Given the description of an element on the screen output the (x, y) to click on. 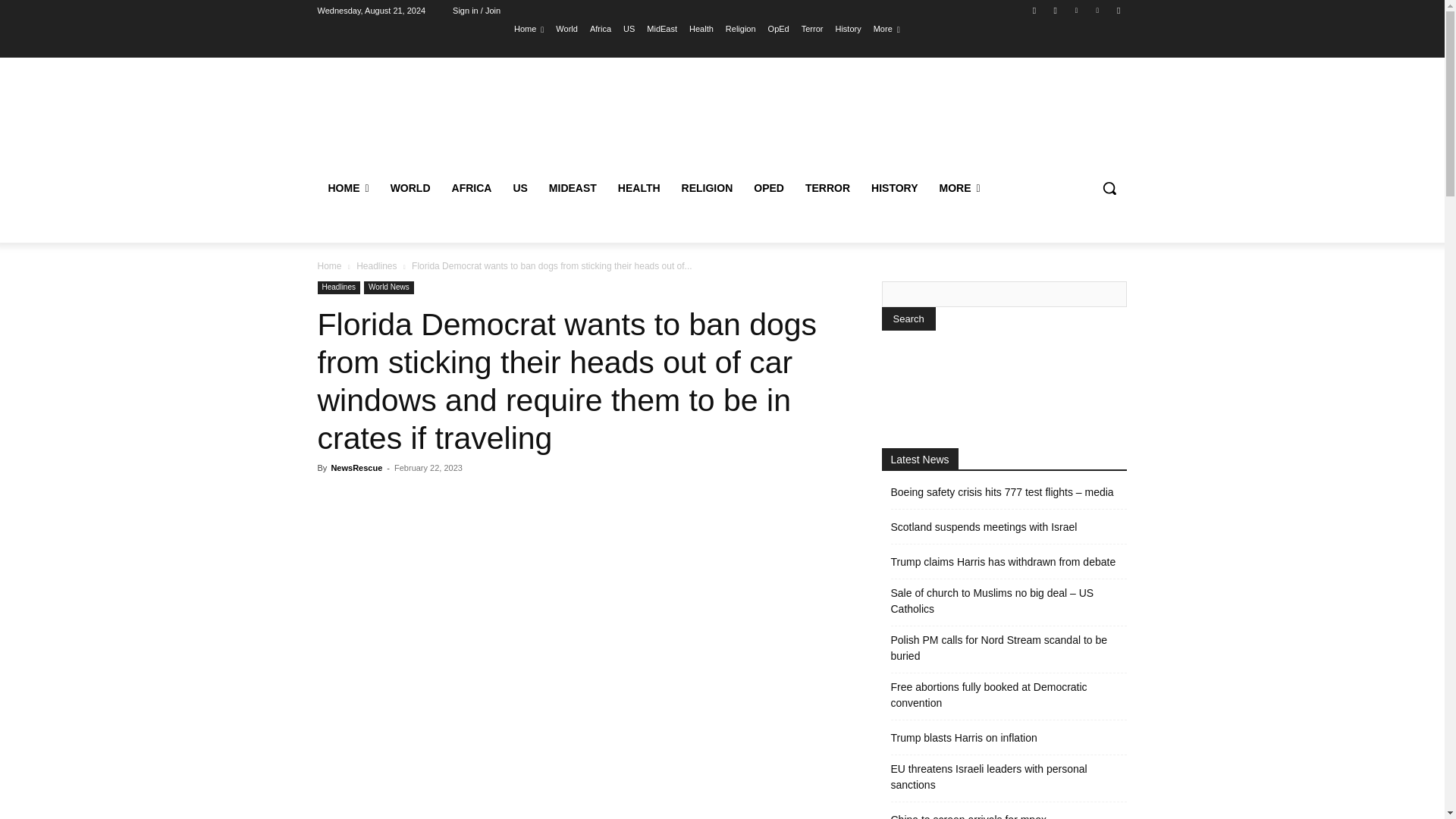
MidEast (661, 28)
OpEd (778, 28)
World (567, 28)
Africa (600, 28)
Health (700, 28)
Instagram (1055, 9)
View all posts in Headlines (376, 266)
Vimeo (1097, 9)
Religion (740, 28)
Facebook (1034, 9)
